Given the description of an element on the screen output the (x, y) to click on. 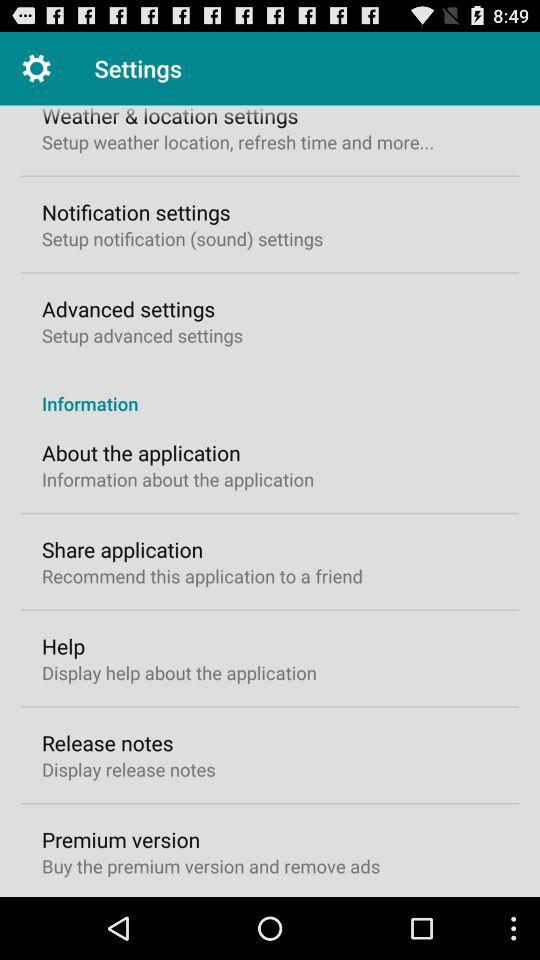
open recommend this application icon (202, 575)
